Given the description of an element on the screen output the (x, y) to click on. 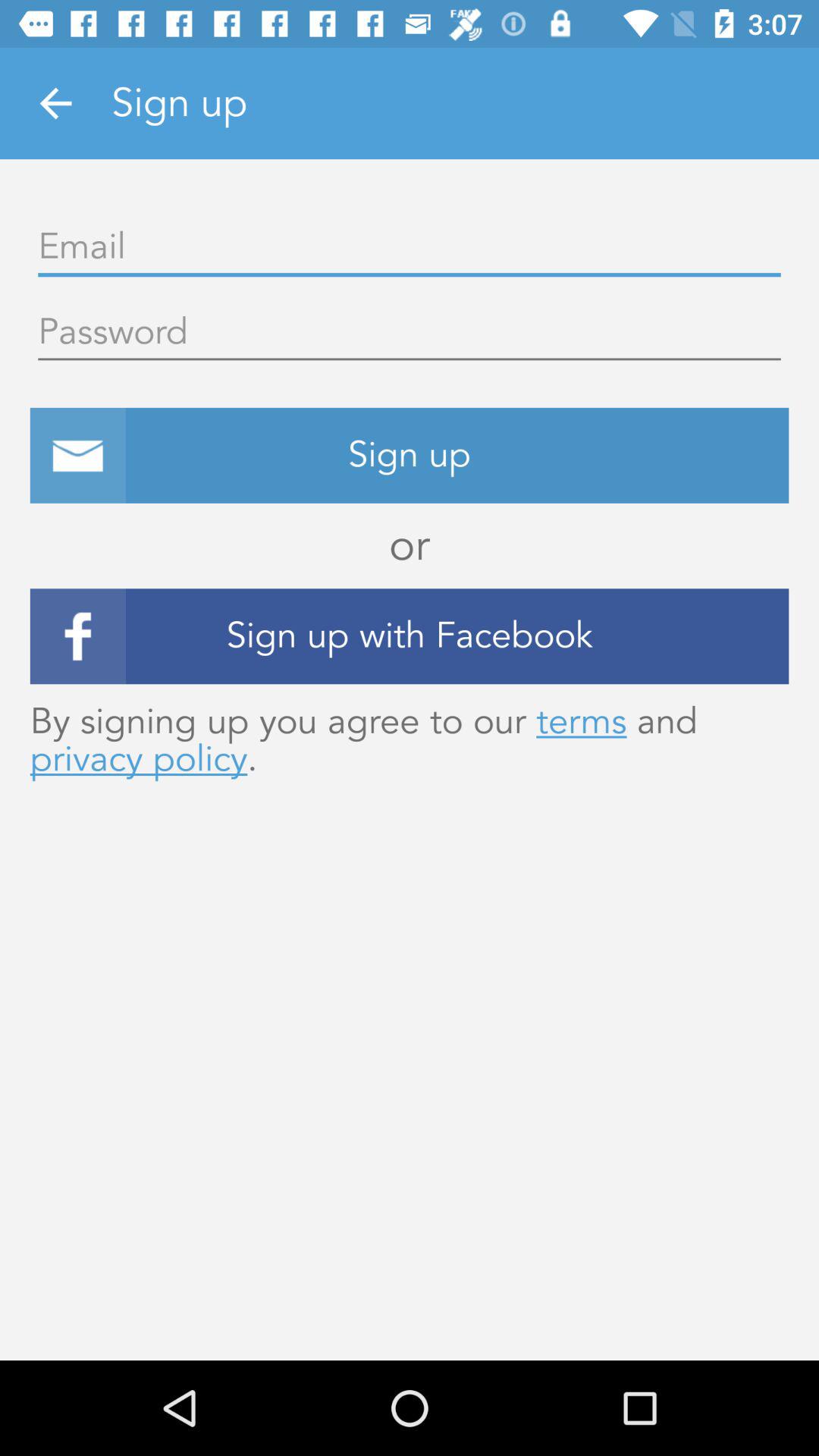
jump until by signing up item (409, 740)
